Given the description of an element on the screen output the (x, y) to click on. 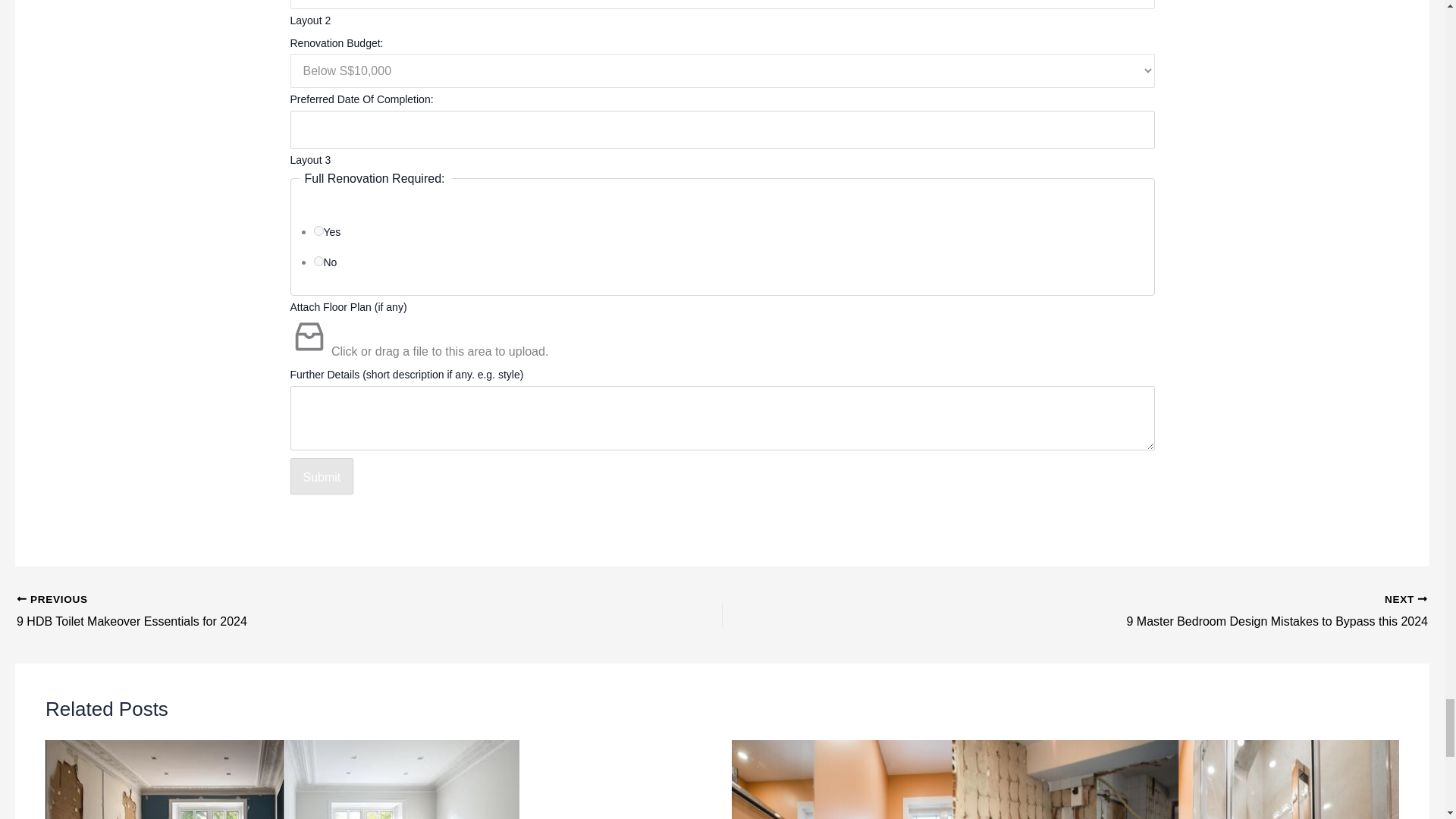
Yes (318, 230)
No (318, 261)
9 HDB Toilet Makeover Essentials for 2024 (299, 611)
9 Master Bedroom Design Mistakes to Bypass this 2024 (1144, 611)
